Given the description of an element on the screen output the (x, y) to click on. 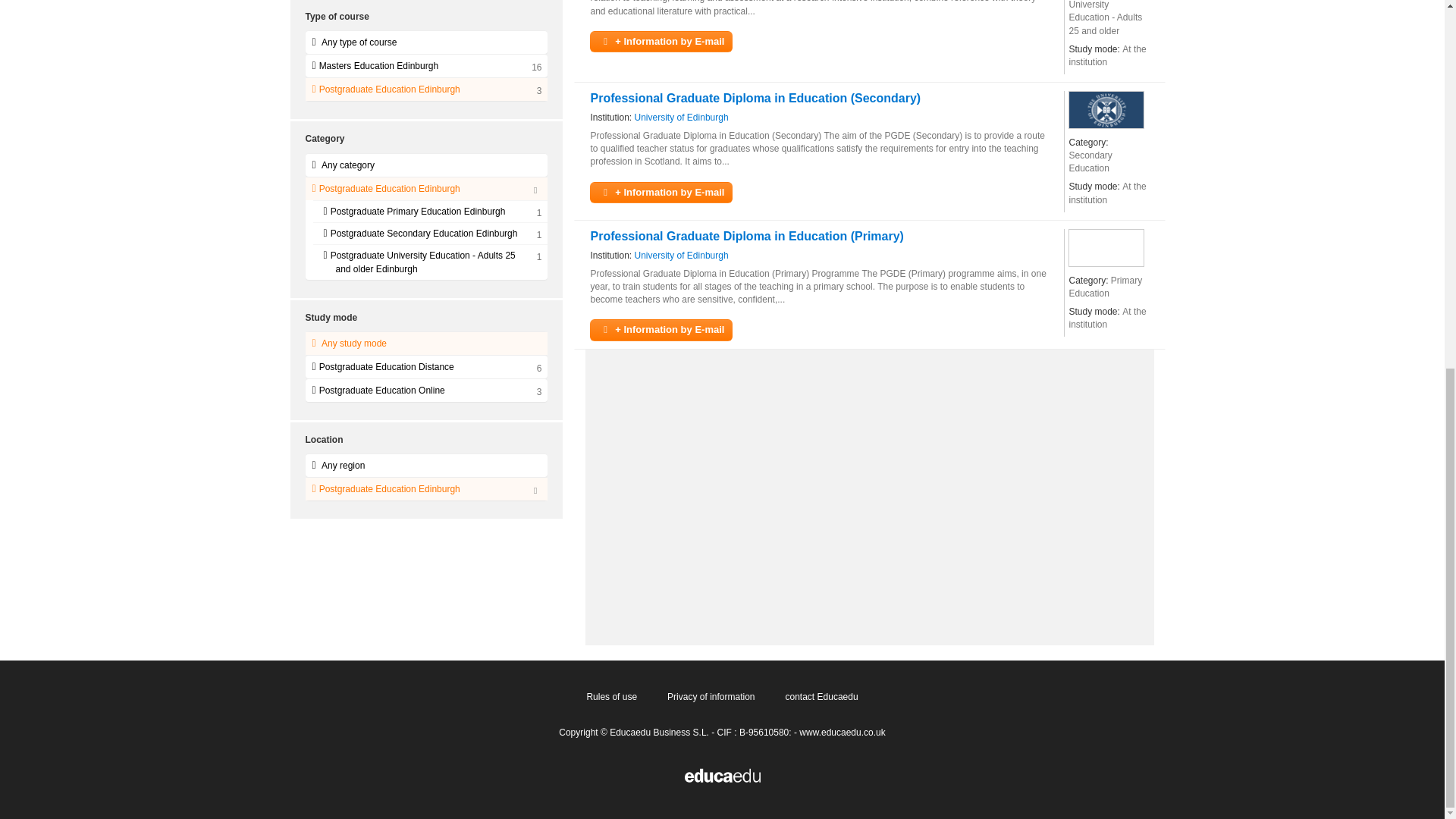
University of Edinburgh (681, 117)
University of Edinburgh (1106, 109)
University of Edinburgh (681, 117)
University of Edinburgh (681, 255)
